Given the description of an element on the screen output the (x, y) to click on. 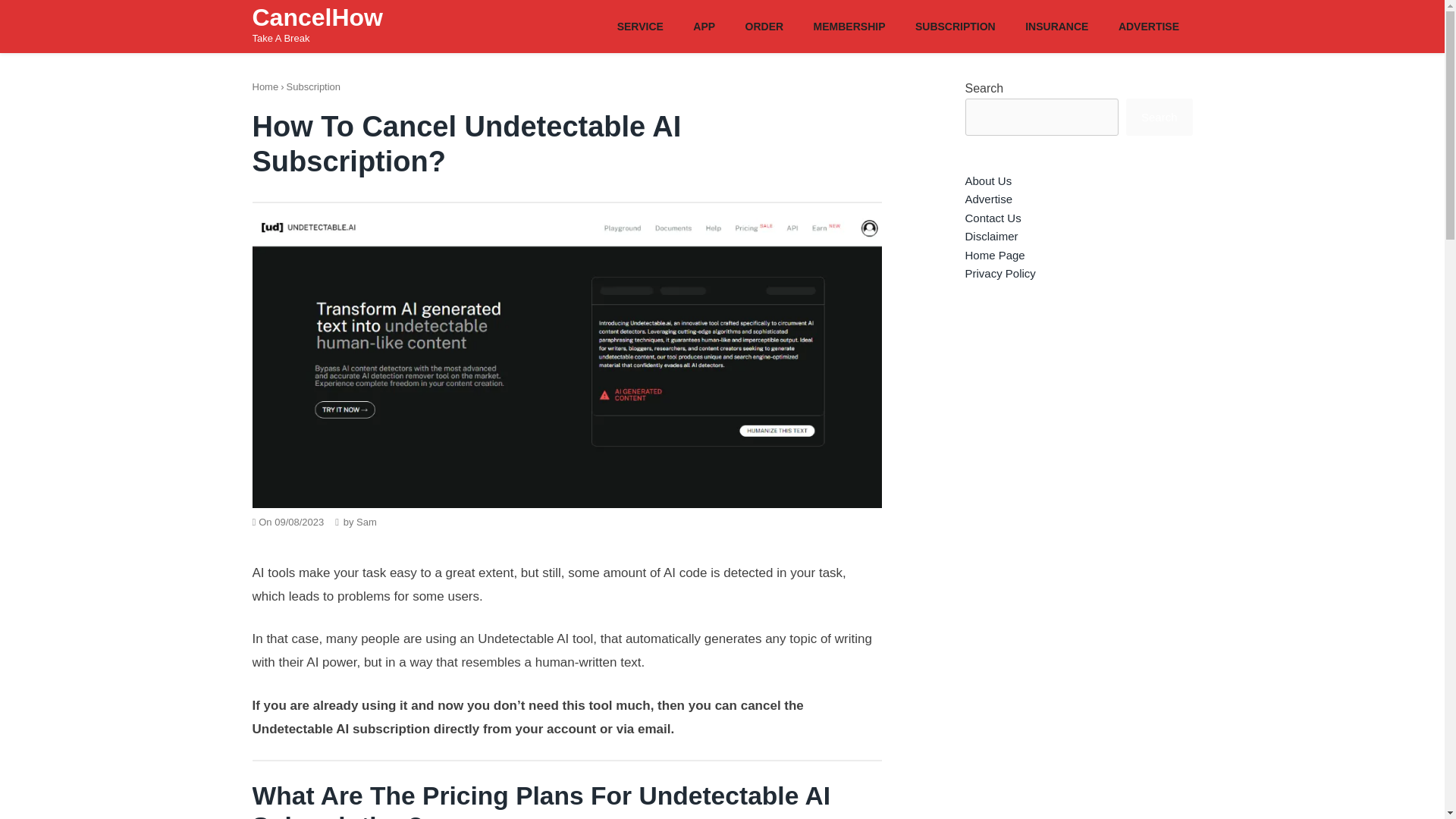
Home (264, 86)
ORDER (764, 25)
Sam (366, 521)
Subscription (313, 86)
About Us (987, 180)
APP (704, 25)
CancelHow (316, 17)
Privacy Policy (999, 273)
MEMBERSHIP (848, 25)
Disclaimer (990, 236)
Advertise (987, 198)
SERVICE (640, 25)
INSURANCE (1056, 25)
ADVERTISE (1148, 25)
